Given the description of an element on the screen output the (x, y) to click on. 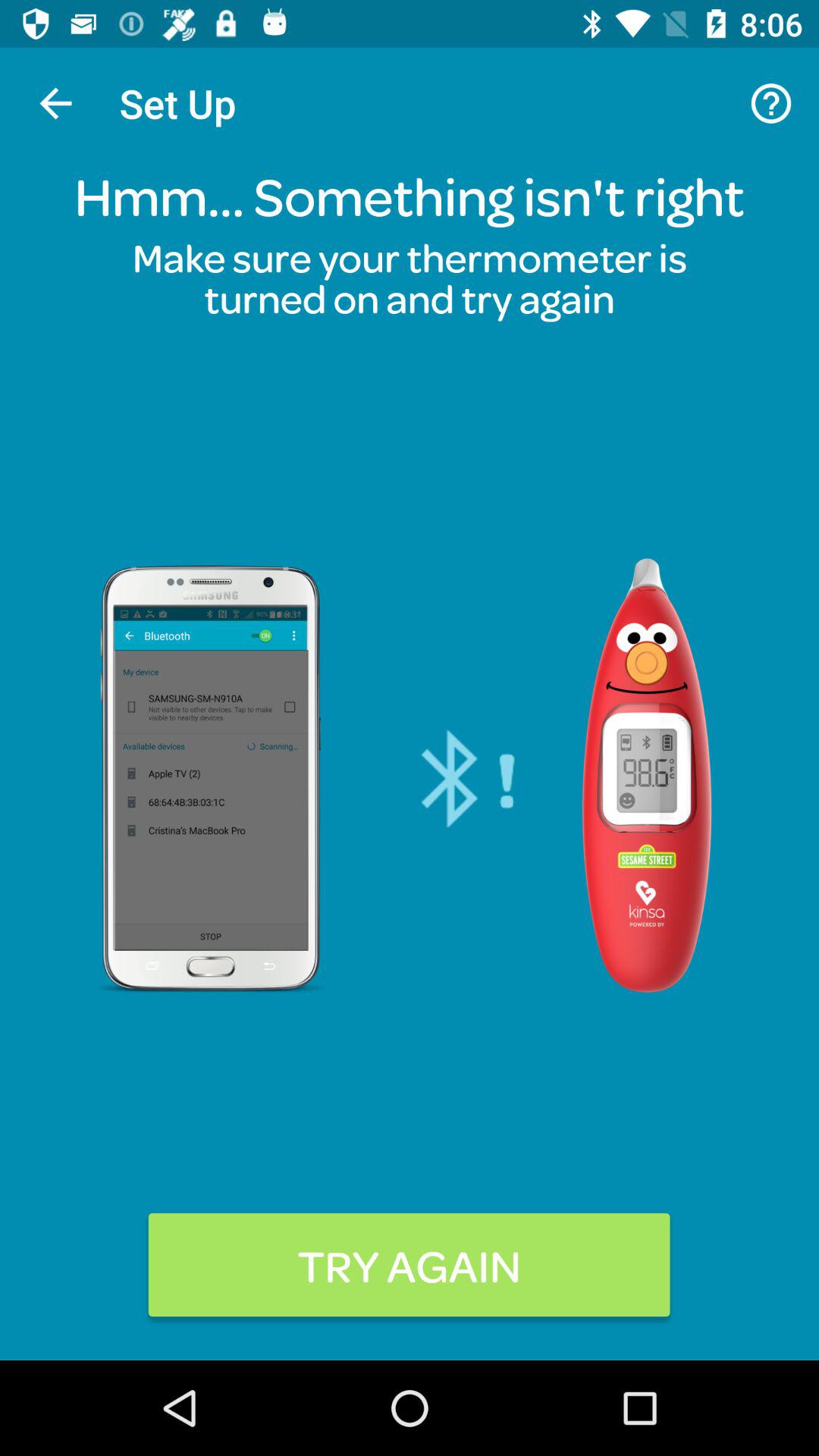
turn on item to the right of set up app (771, 103)
